Given the description of an element on the screen output the (x, y) to click on. 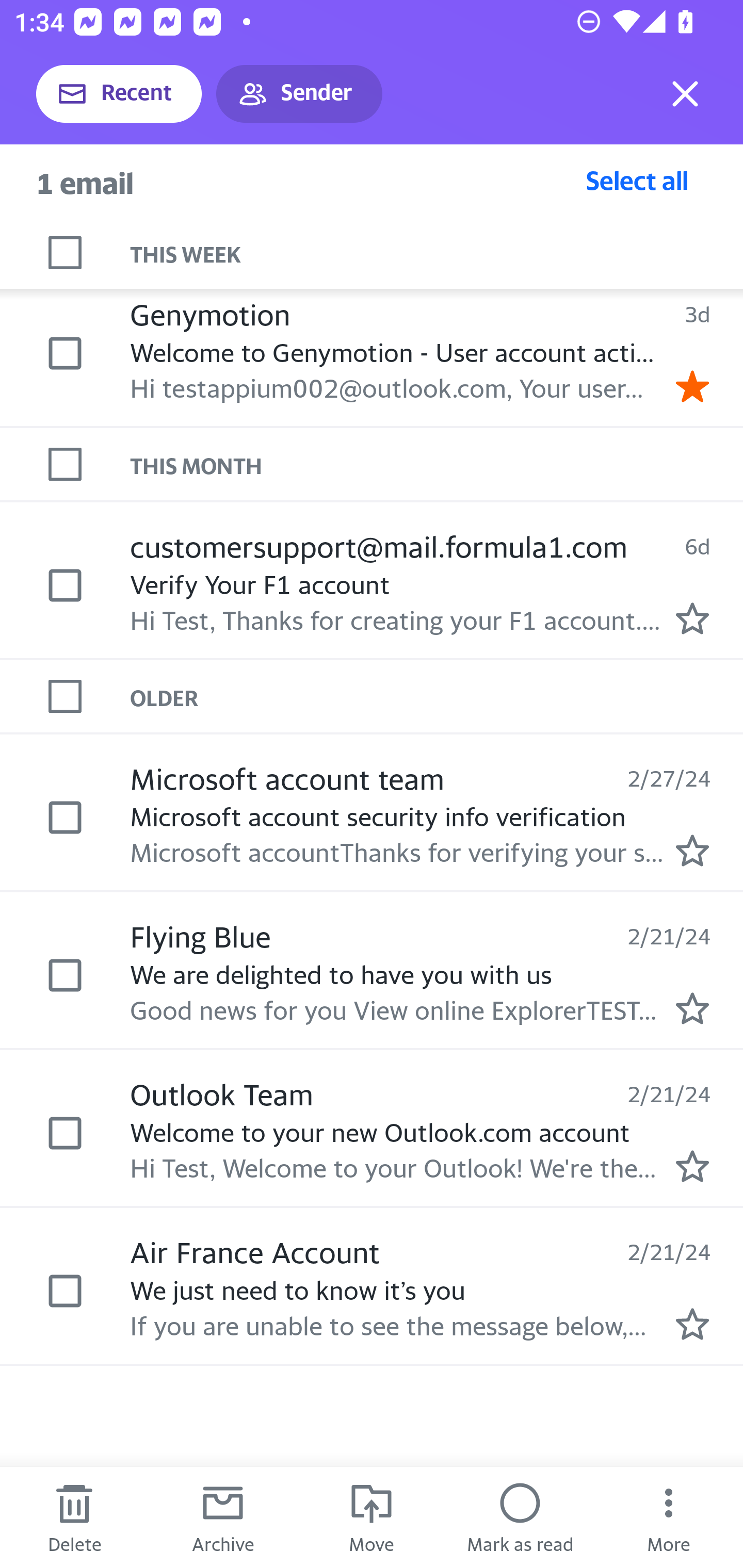
Sender (299, 93)
Exit selection mode (684, 93)
Select all (637, 180)
Remove star. (692, 386)
THIS MONTH (436, 464)
Mark as starred. (692, 618)
OLDER (436, 696)
Mark as starred. (692, 850)
Mark as starred. (692, 1008)
Mark as starred. (692, 1165)
Mark as starred. (692, 1324)
Delete (74, 1517)
Archive (222, 1517)
Move (371, 1517)
Mark as read (519, 1517)
More (668, 1517)
